Given the description of an element on the screen output the (x, y) to click on. 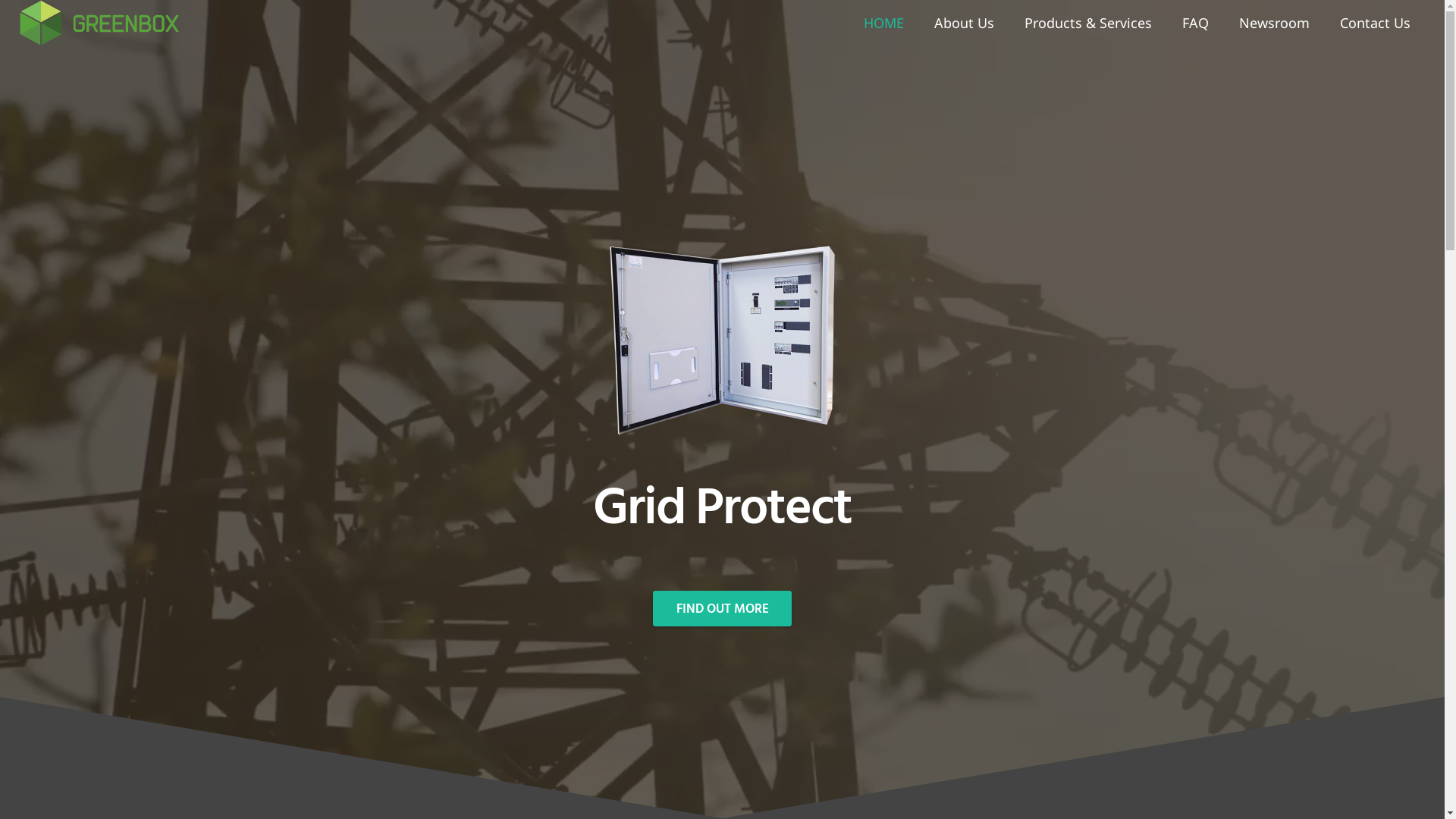
HOME Element type: text (882, 22)
FAQ Element type: text (1194, 22)
Products & Services Element type: text (1087, 22)
Contact Us Element type: text (1374, 22)
FIND OUT MORE Element type: text (721, 608)
Newsroom Element type: text (1273, 22)
About Us Element type: text (964, 22)
